Given the description of an element on the screen output the (x, y) to click on. 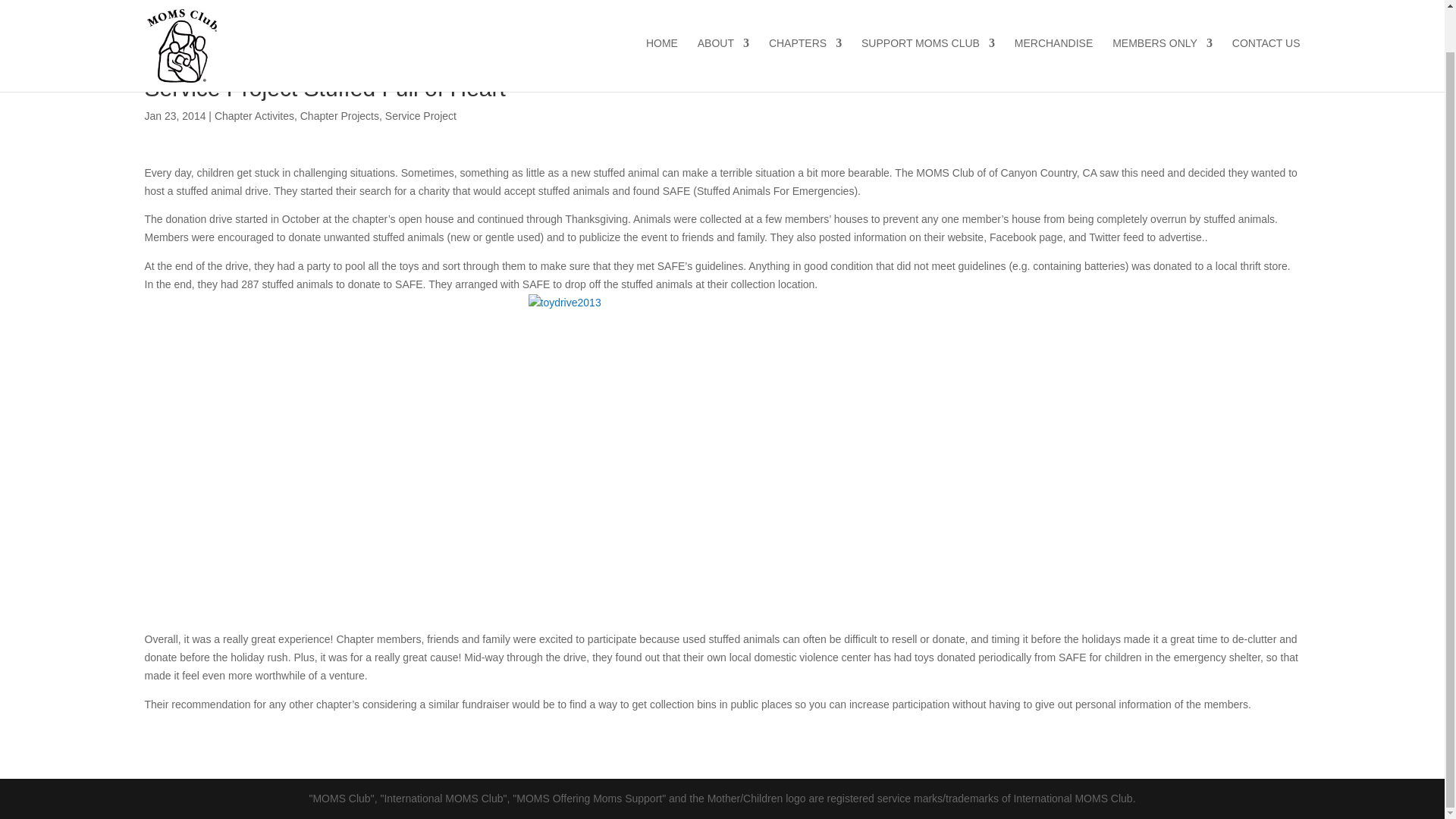
Chapter Projects (338, 115)
SUPPORT MOMS CLUB (927, 20)
Service Project (421, 115)
MEMBERS ONLY (1162, 20)
ABOUT (723, 20)
MERCHANDISE (1053, 20)
CHAPTERS (804, 20)
CONTACT US (1265, 20)
Chapter Activites (254, 115)
